Given the description of an element on the screen output the (x, y) to click on. 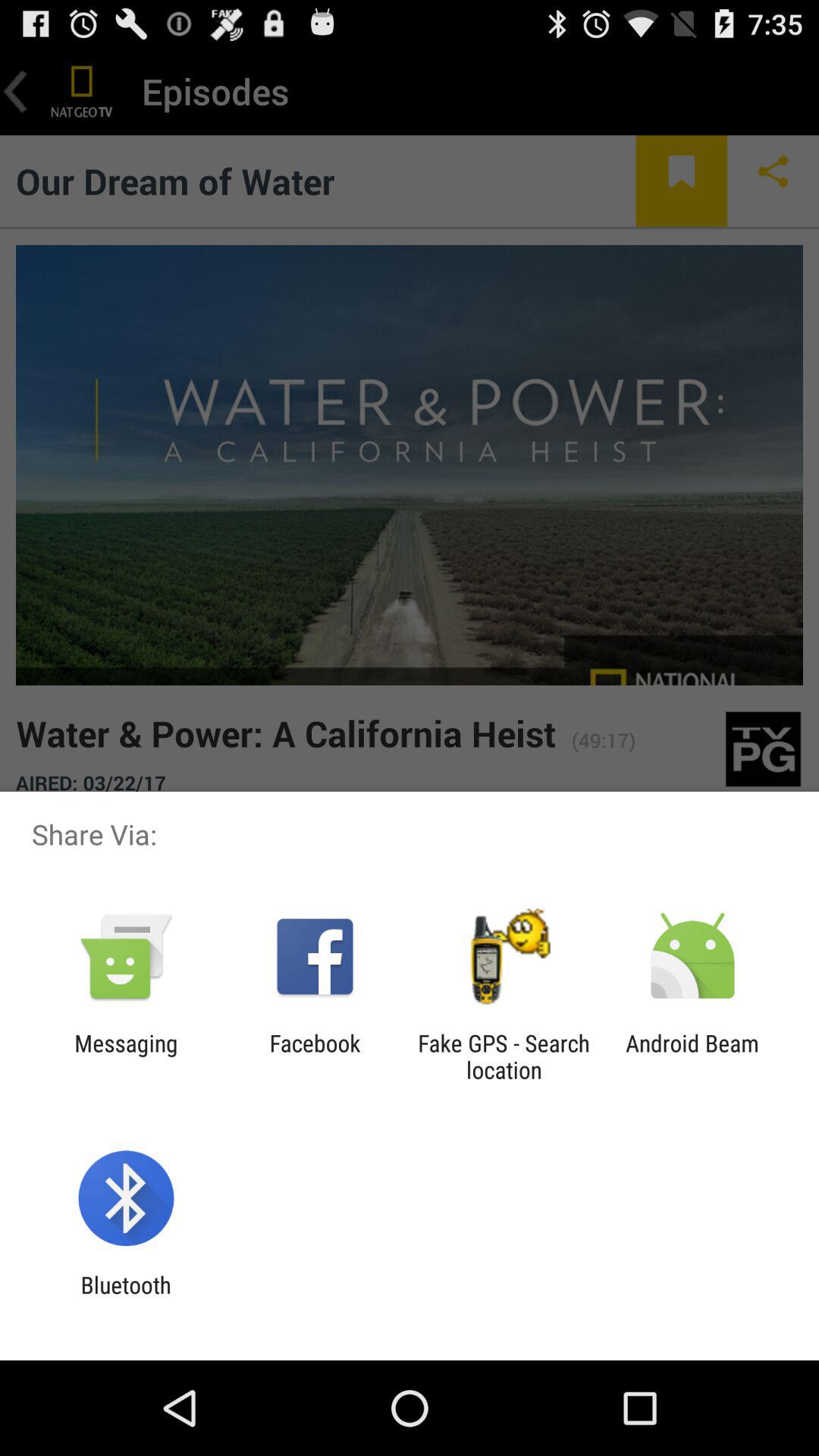
click bluetooth app (125, 1298)
